Given the description of an element on the screen output the (x, y) to click on. 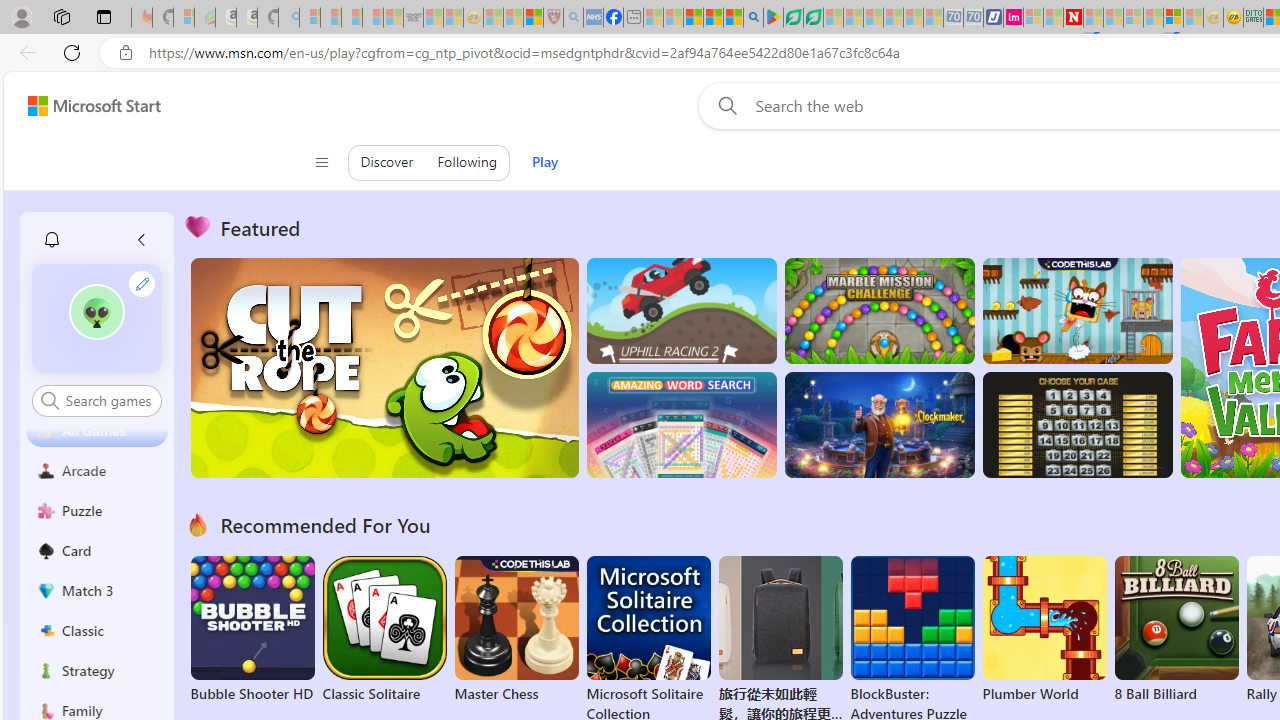
Deal or No Deal (1076, 425)
Class: search-icon (50, 400)
Bluey: Let's Play! - Apps on Google Play (773, 17)
Terms of Use Agreement (792, 17)
